Given the description of an element on the screen output the (x, y) to click on. 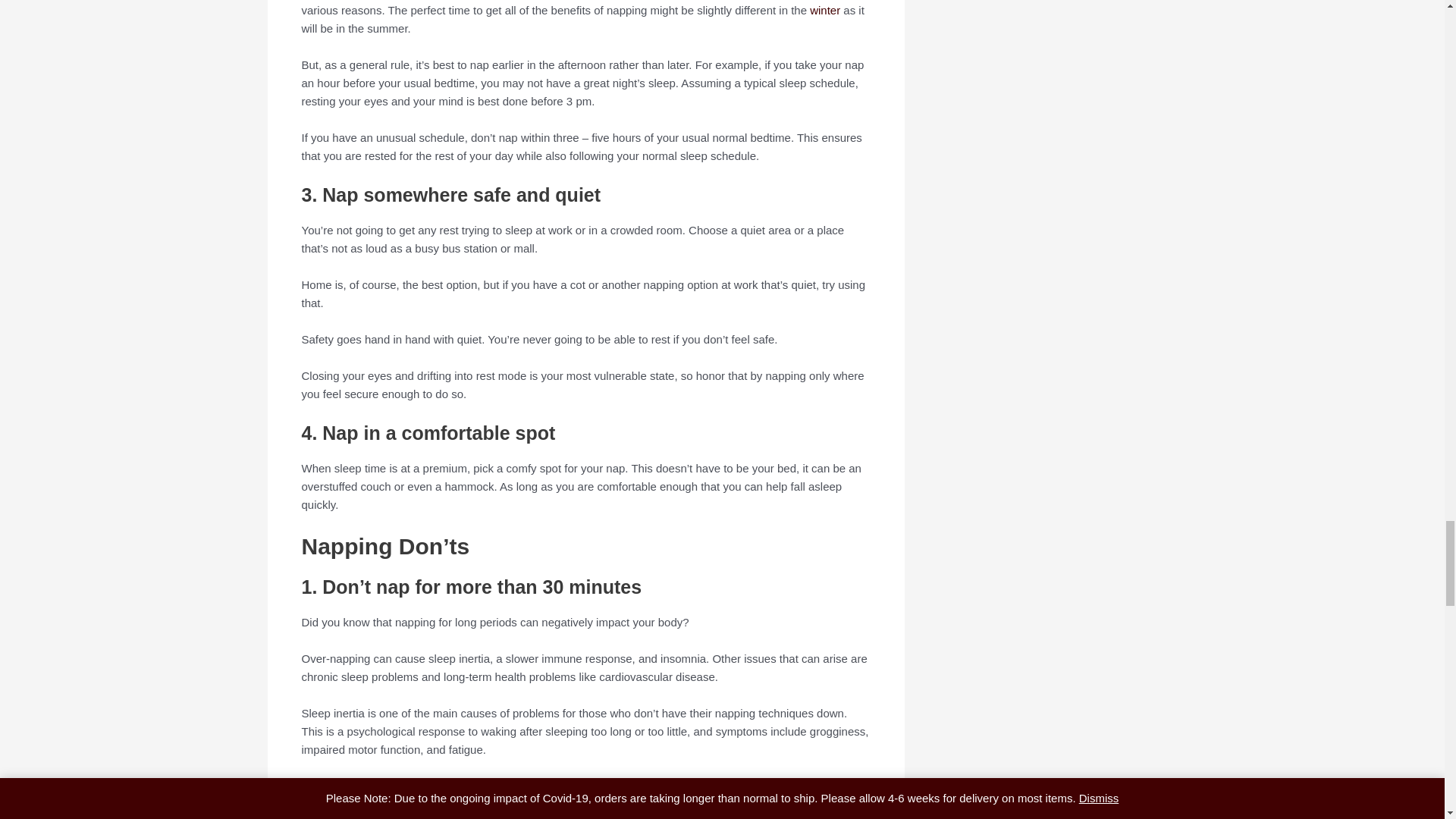
winter (824, 10)
winter (824, 10)
